Given the description of an element on the screen output the (x, y) to click on. 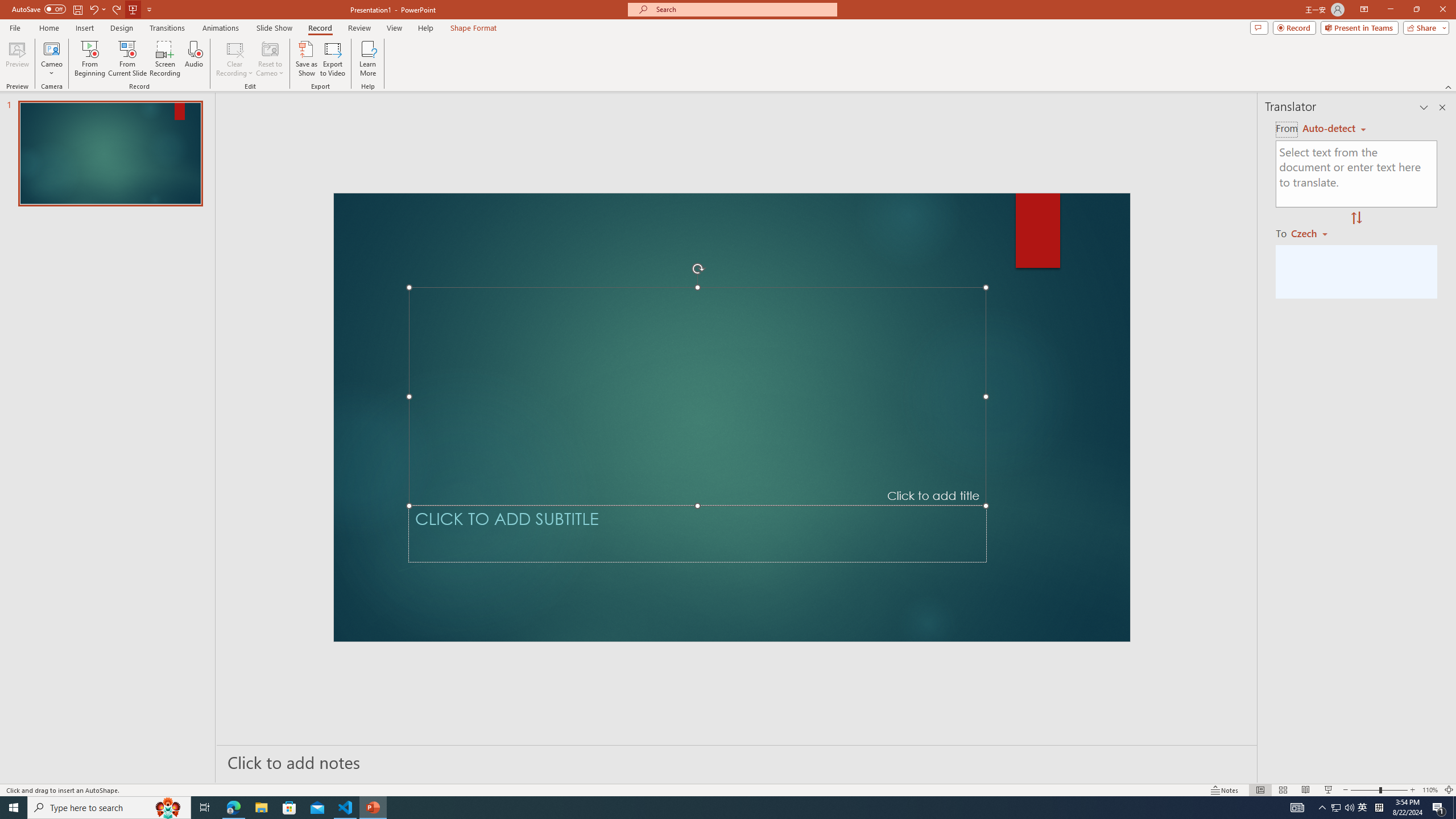
Auto-detect (1334, 128)
